Given the description of an element on the screen output the (x, y) to click on. 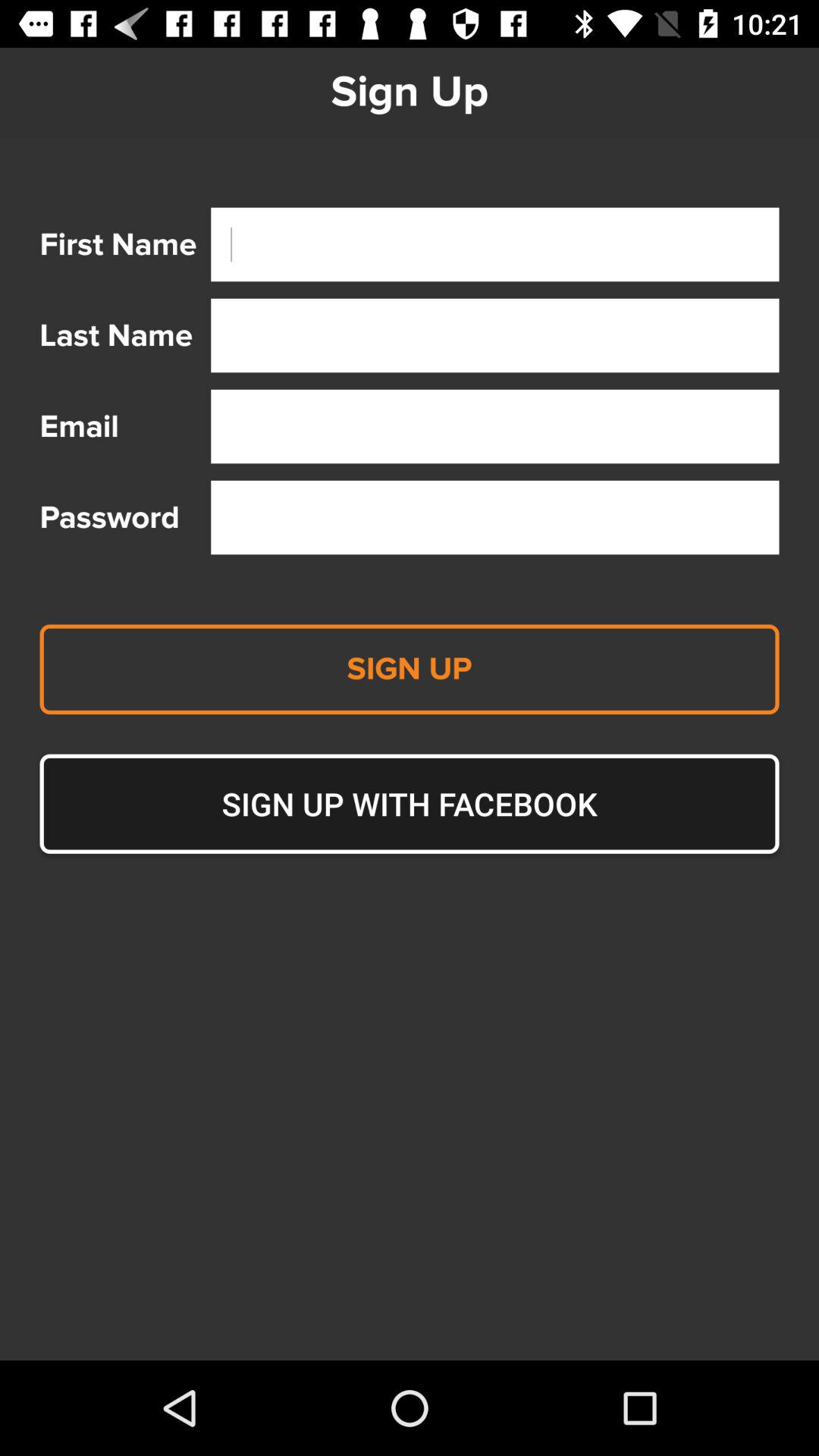
tap the icon above sign up icon (495, 517)
